Given the description of an element on the screen output the (x, y) to click on. 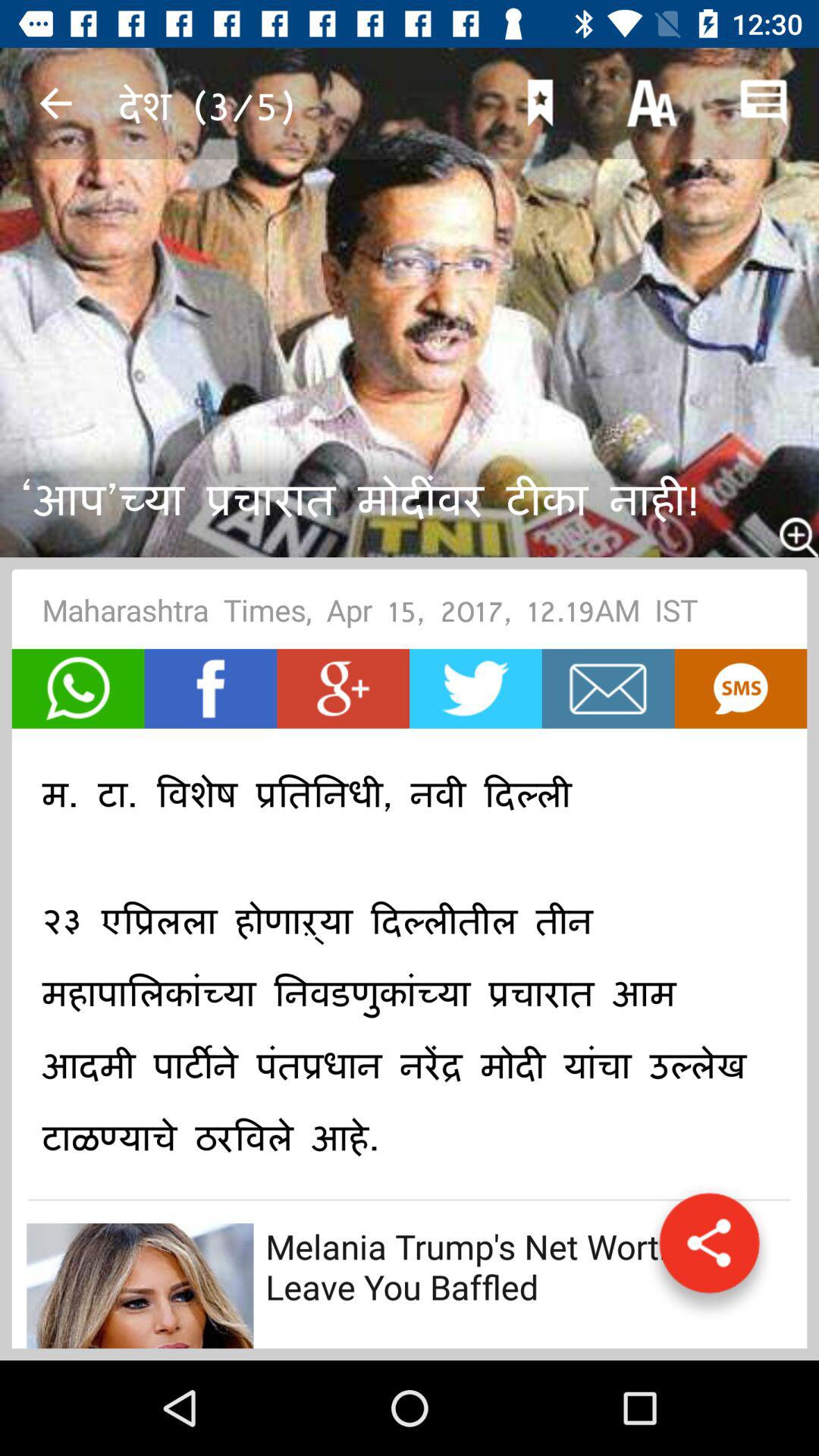
share article via text (740, 688)
